Given the description of an element on the screen output the (x, y) to click on. 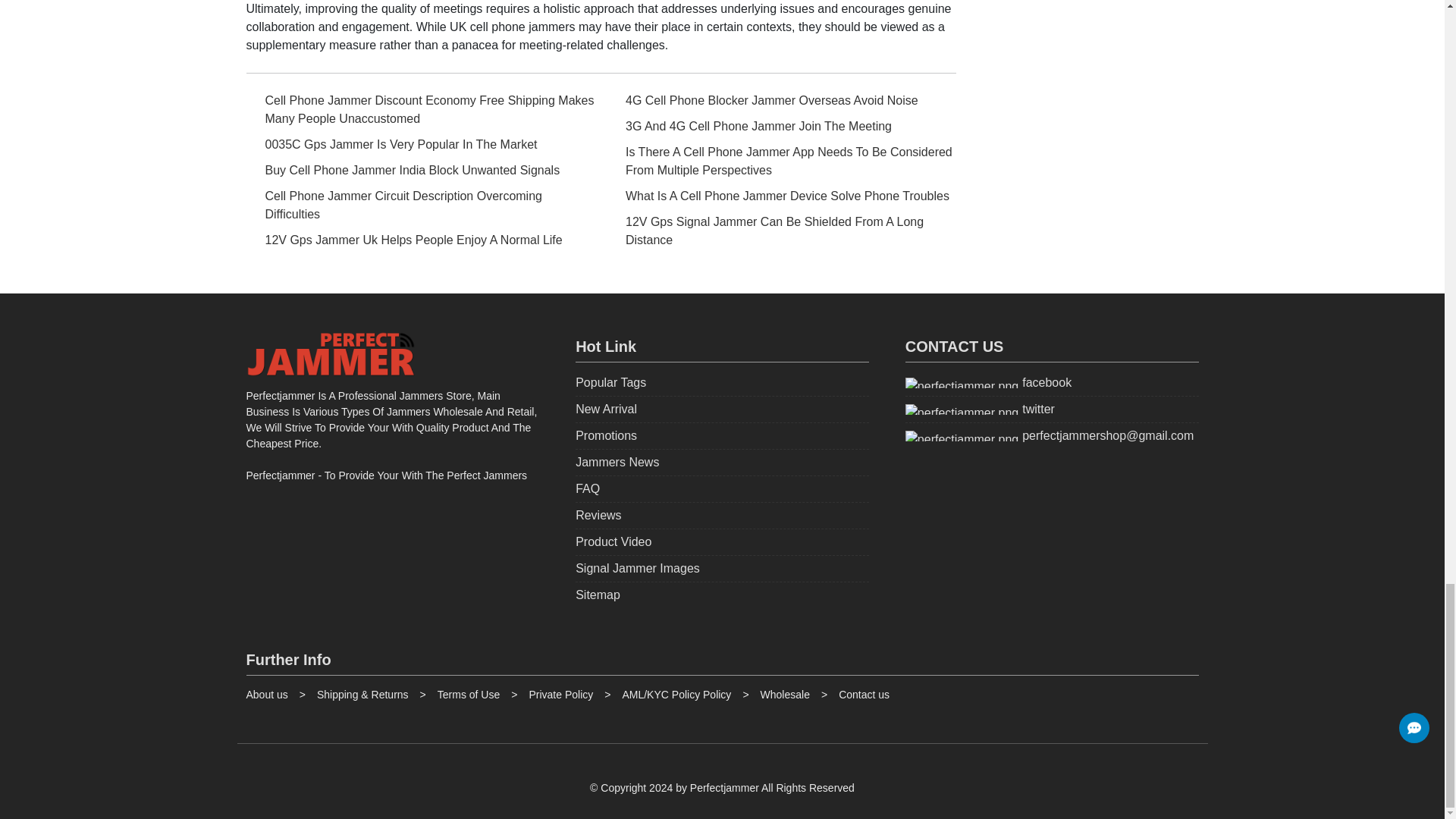
3G And 4G Cell Phone Jammer Join The Meeting (781, 126)
4G Cell Phone Blocker Jammer Overseas Avoid Noise (781, 100)
12V Gps Jammer Uk Helps People Enjoy A Normal Life (420, 239)
12V Gps Signal Jammer Can Be Shielded From A Long Distance (781, 230)
0035C Gps Jammer Is Very Popular In The Market (420, 144)
What Is A Cell Phone Jammer Device Solve Phone Troubles (781, 196)
Buy Cell Phone Jammer India Block Unwanted Signals (420, 170)
